Given the description of an element on the screen output the (x, y) to click on. 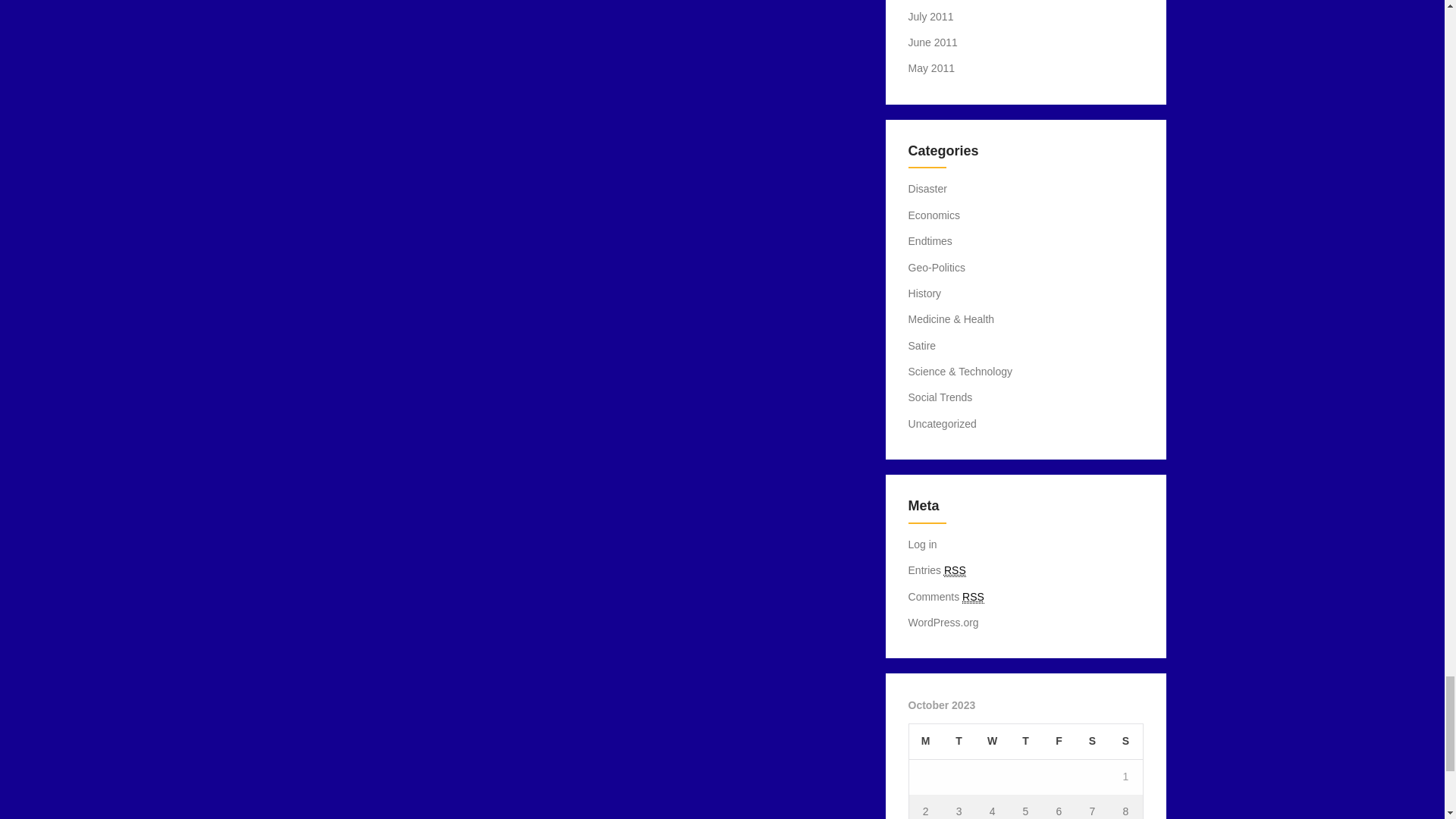
Sunday (1125, 741)
Monday (925, 741)
Friday (1058, 741)
Really Simple Syndication (973, 596)
Saturday (1091, 741)
Wednesday (992, 741)
Really Simple Syndication (954, 570)
Thursday (1025, 741)
Tuesday (958, 741)
